Given the description of an element on the screen output the (x, y) to click on. 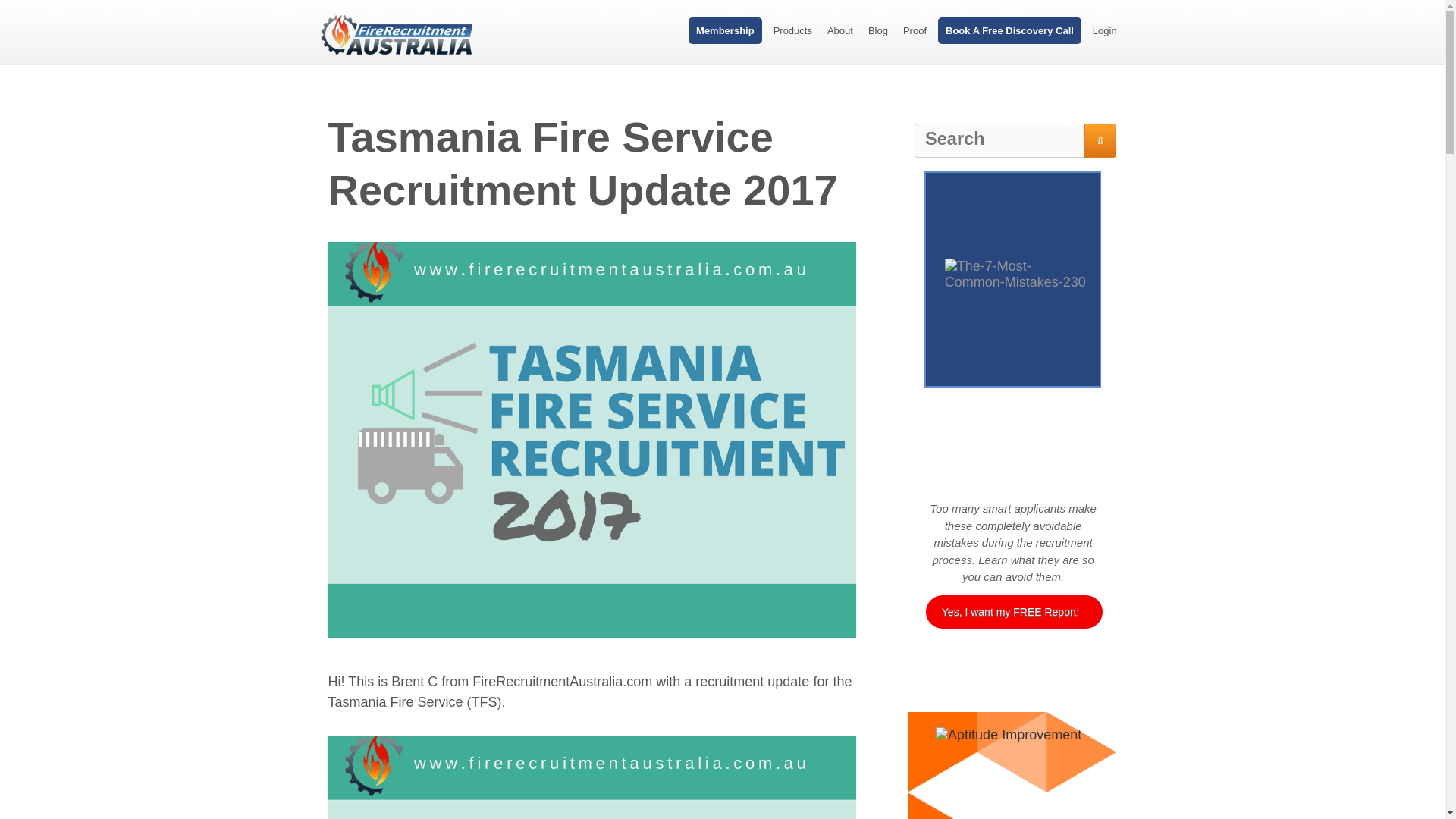
Yes, I want my FREE Report! (1014, 611)
Book A Free Discovery Call (1009, 29)
Aptitude-Improvement-Blueprint-230 (1011, 773)
Login (1104, 30)
Products (792, 30)
Blog (877, 30)
Proof (914, 30)
About (840, 30)
Membership (724, 29)
